Given the description of an element on the screen output the (x, y) to click on. 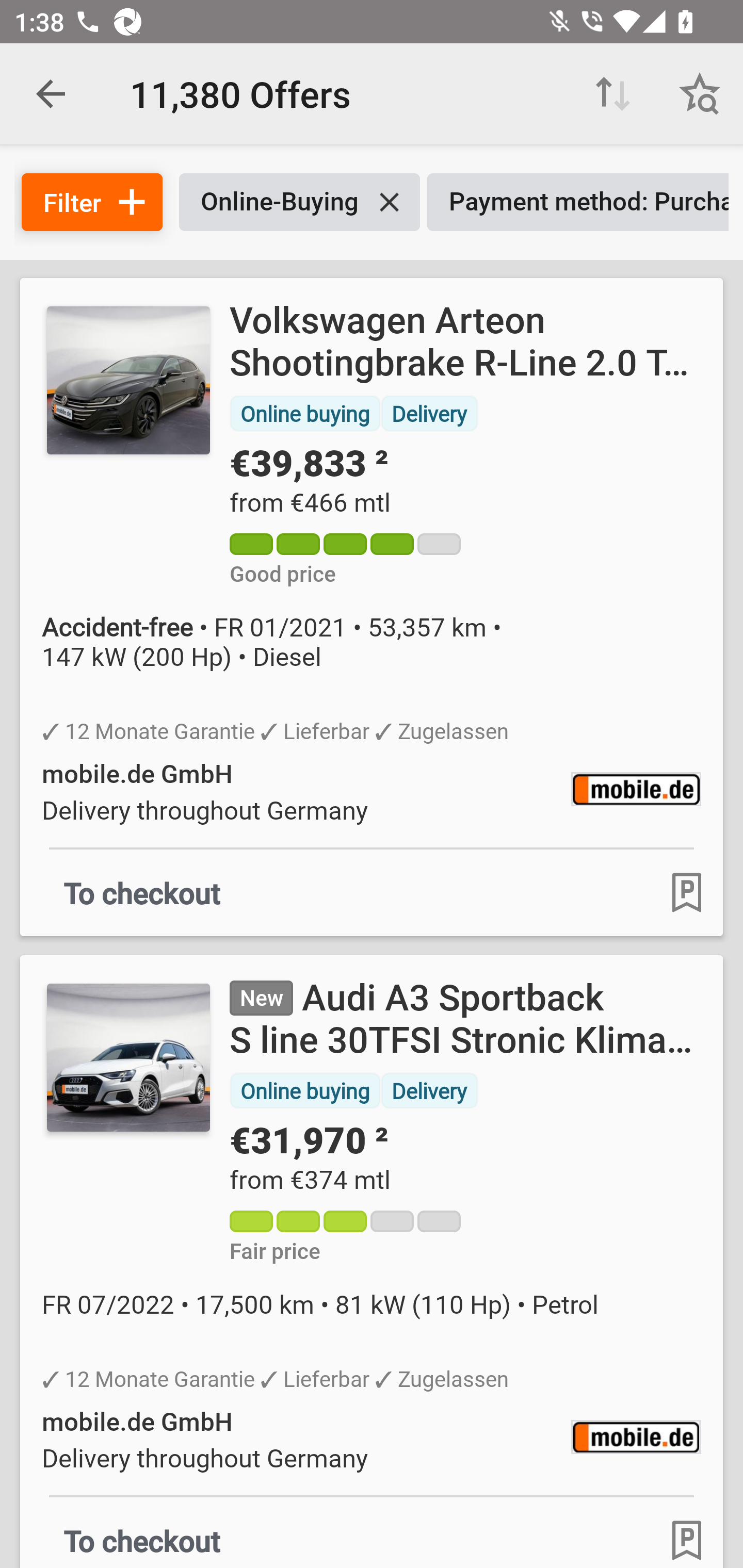
Navigate up (50, 93)
Sort options (612, 93)
Save search (699, 93)
Online-Buying Remove Online-Buying (299, 202)
Payment method: Purchase (577, 202)
Filter (91, 202)
To checkout (142, 891)
To checkout (142, 1535)
